Given the description of an element on the screen output the (x, y) to click on. 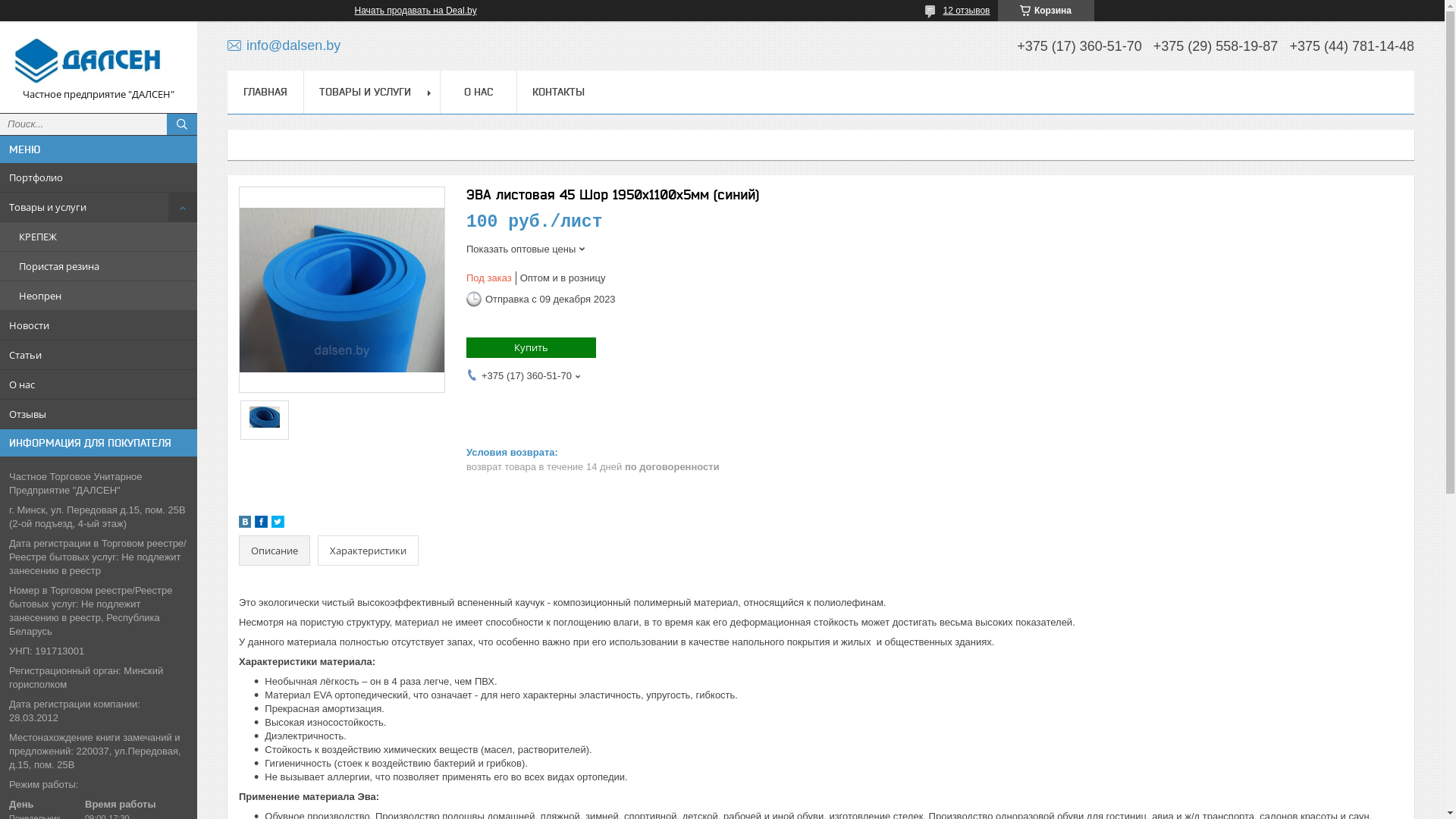
twitter Element type: hover (277, 524)
facebook Element type: hover (260, 524)
info@dalsen.by Element type: text (283, 45)
